Given the description of an element on the screen output the (x, y) to click on. 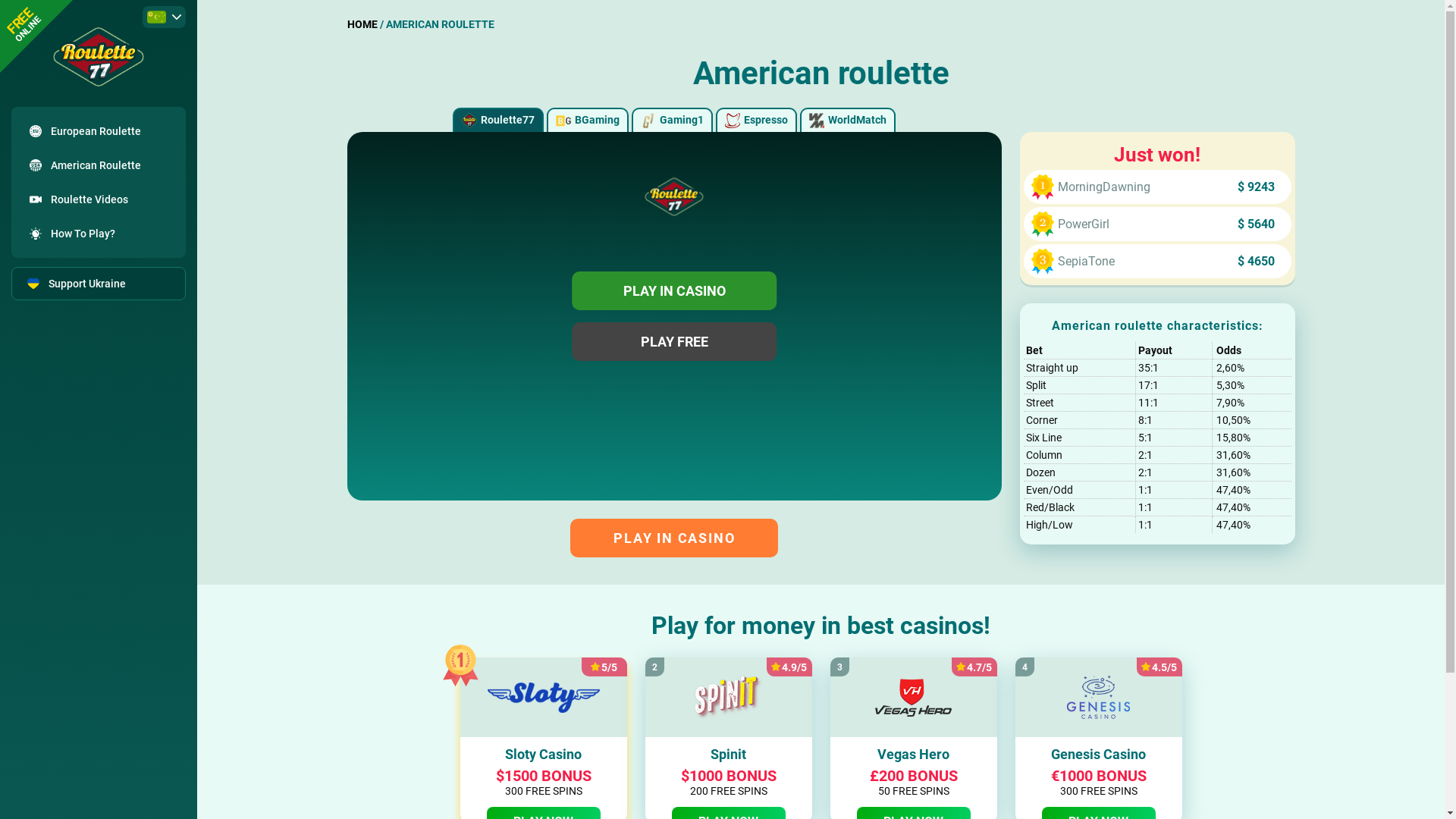
BGaming Element type: text (587, 119)
American Roulette Element type: text (98, 165)
How To Play? Element type: text (98, 233)
HOME Element type: text (362, 24)
European Roulette Element type: text (98, 131)
Roulette Videos Element type: text (98, 199)
Gaming1 Element type: text (671, 119)
WorldMatch Element type: text (847, 119)
PLAY IN CASINO Element type: text (674, 537)
Support Ukraine Element type: text (98, 283)
PLAY IN CASINO Element type: text (673, 290)
Roulette77 Element type: text (497, 119)
Espresso Element type: text (756, 119)
PLAY FREE Element type: text (673, 341)
